Given the description of an element on the screen output the (x, y) to click on. 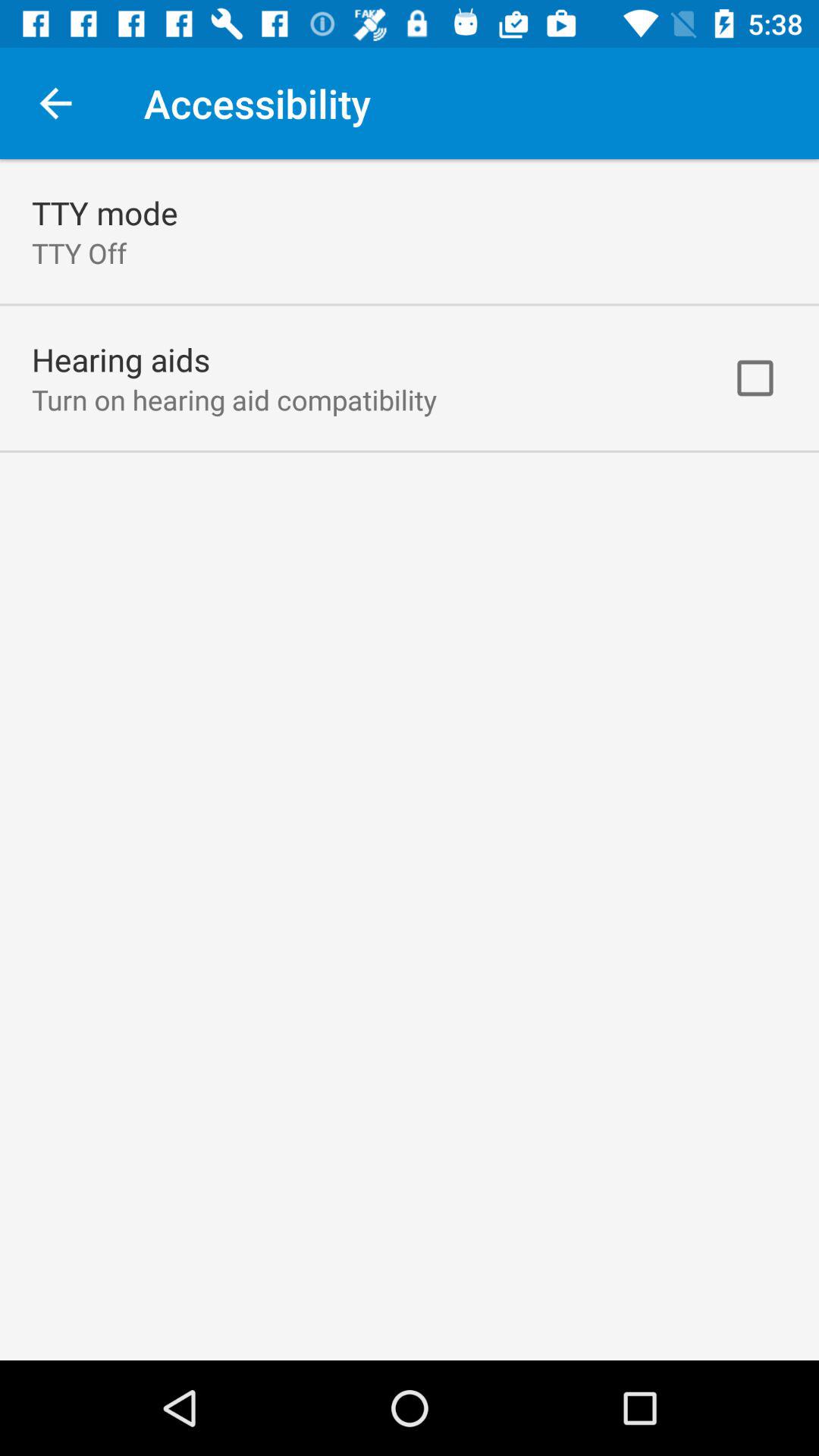
swipe to the turn on hearing icon (233, 399)
